Given the description of an element on the screen output the (x, y) to click on. 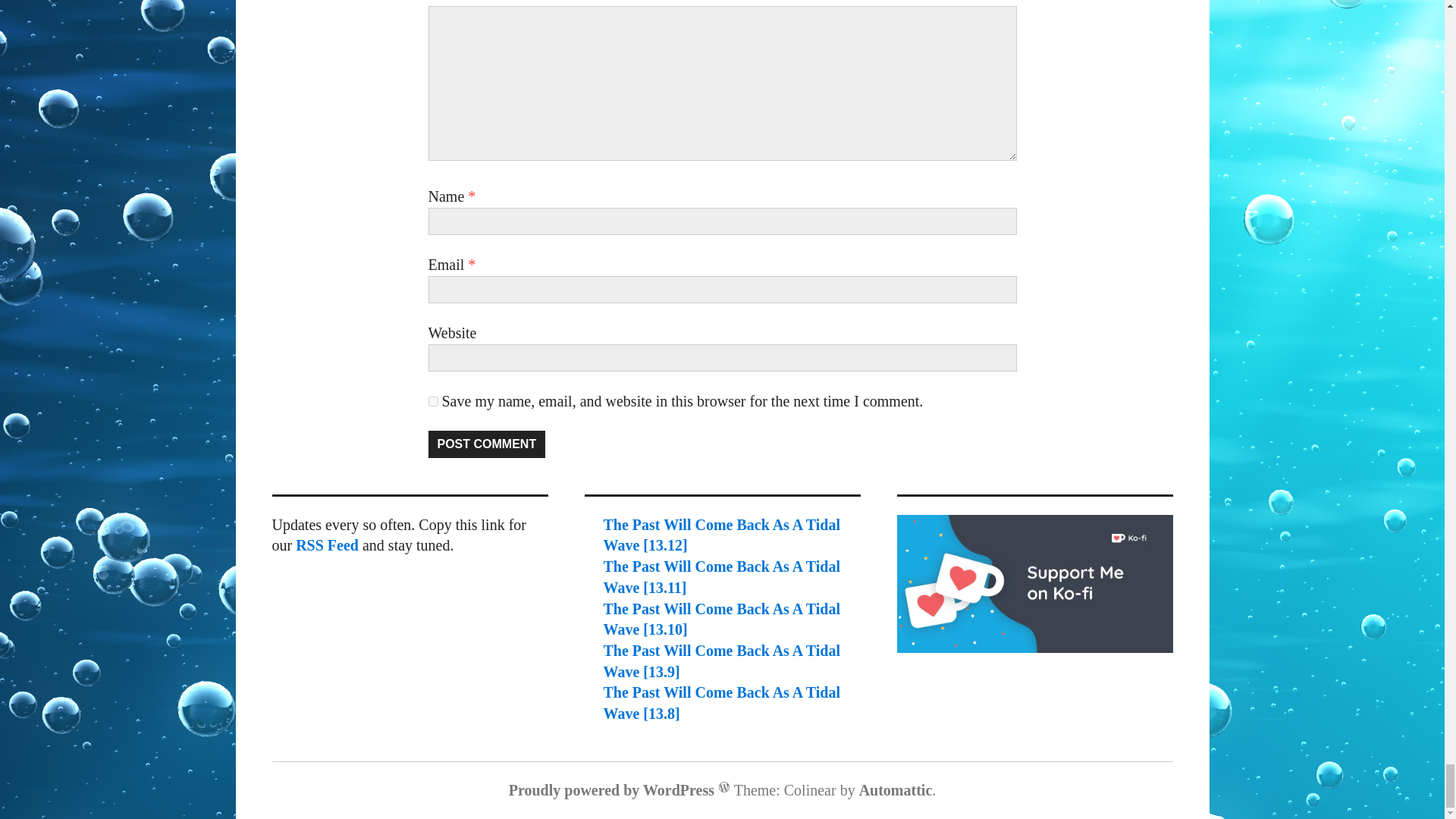
Post Comment (486, 443)
yes (433, 401)
RSS Feed (326, 545)
Post Comment (486, 443)
